Given the description of an element on the screen output the (x, y) to click on. 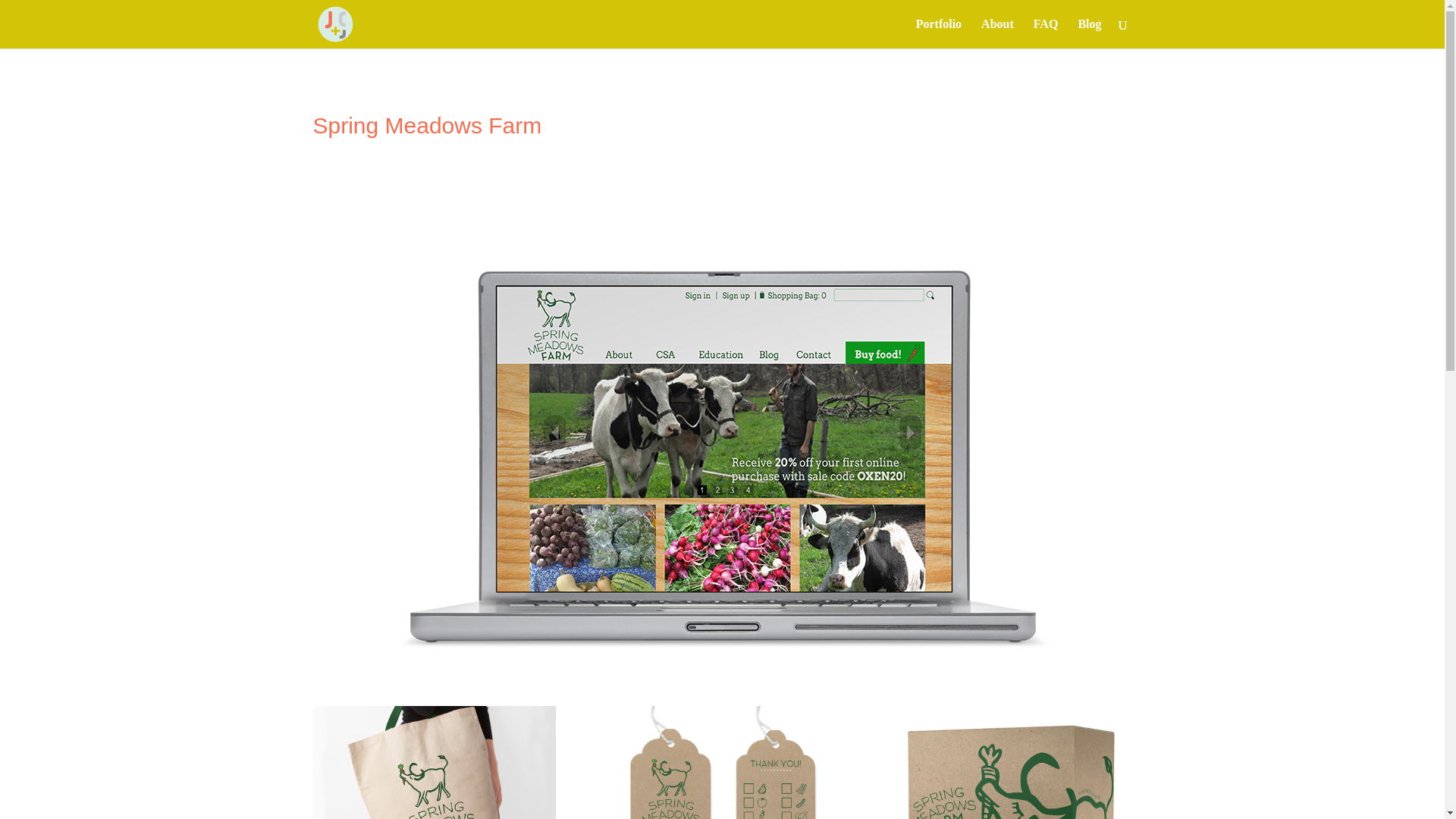
Portfolio (937, 33)
About (997, 33)
